Given the description of an element on the screen output the (x, y) to click on. 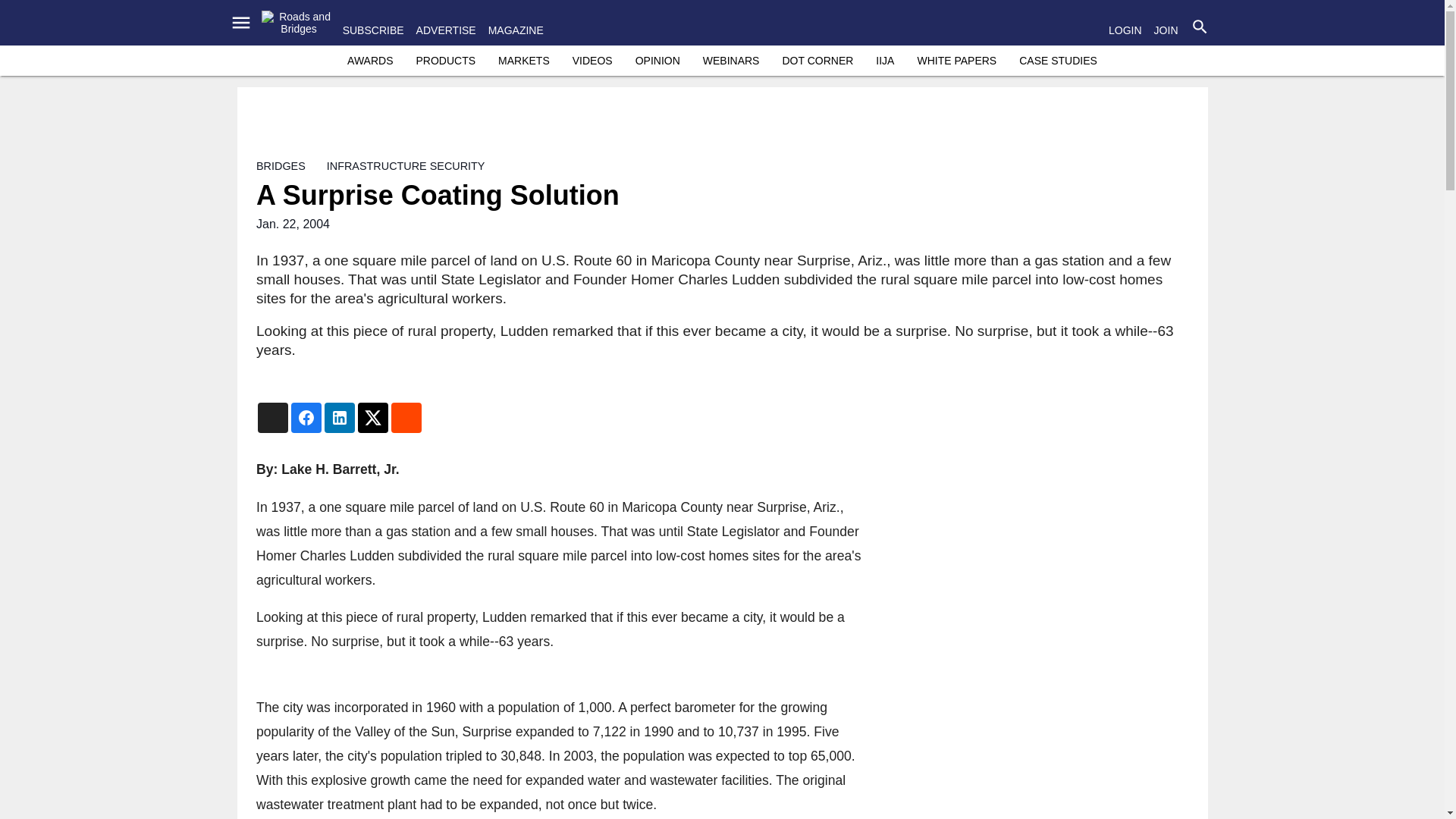
AWARDS (370, 60)
ADVERTISE (446, 30)
LOGIN (1124, 30)
SUBSCRIBE (373, 30)
OPINION (656, 60)
DOT CORNER (817, 60)
VIDEOS (592, 60)
MAGAZINE (515, 30)
CASE STUDIES (1058, 60)
JOIN (1165, 30)
WHITE PAPERS (956, 60)
PRODUCTS (445, 60)
IIJA (884, 60)
MARKETS (523, 60)
WEBINARS (731, 60)
